Given the description of an element on the screen output the (x, y) to click on. 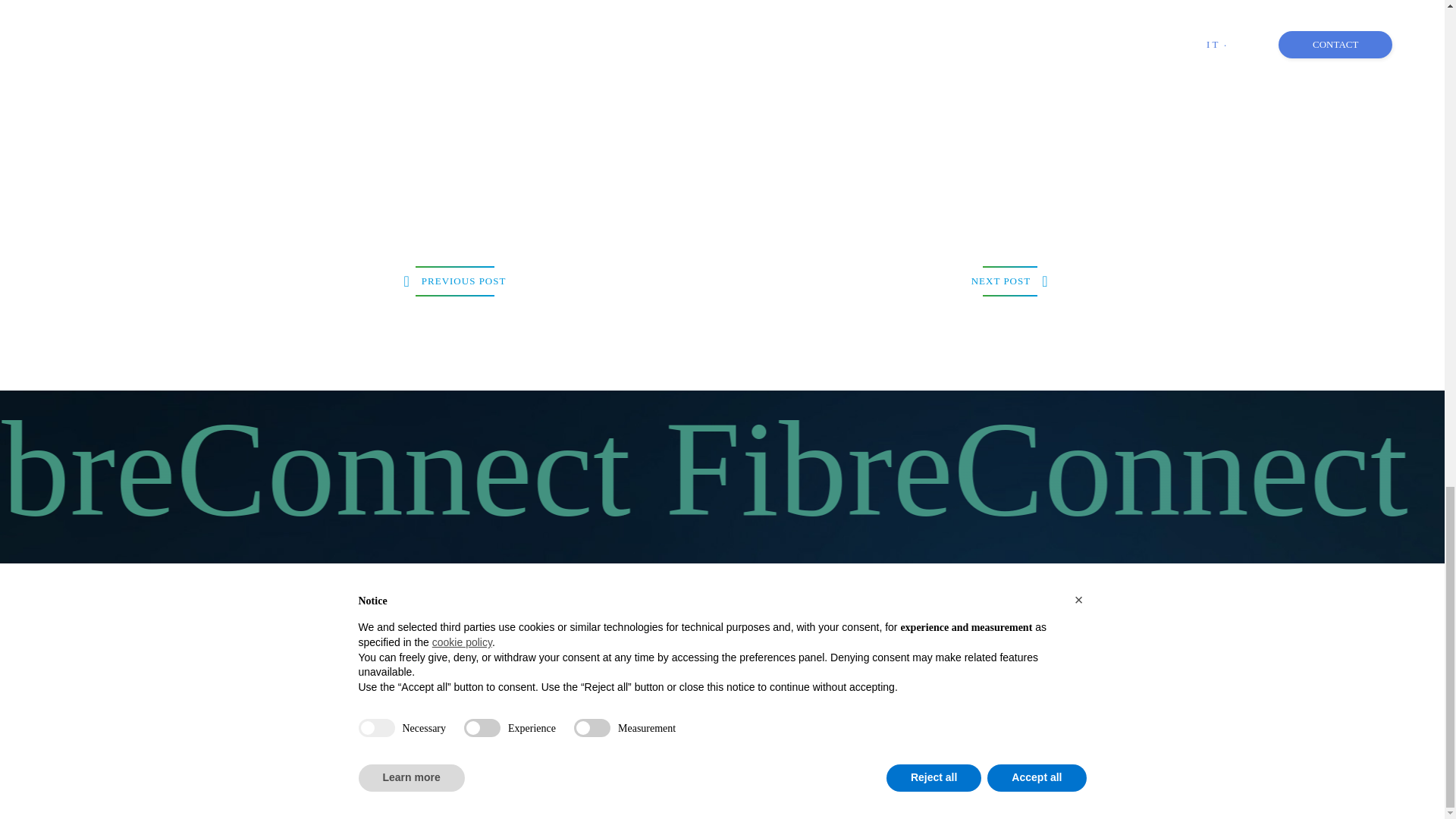
NEXT POST (1010, 281)
PREVIOUS POST (454, 281)
Linkedin (1085, 669)
cookies policy (286, 781)
privacy policy (347, 781)
P. 06-87484810 (753, 634)
ethical code (403, 781)
